Given the description of an element on the screen output the (x, y) to click on. 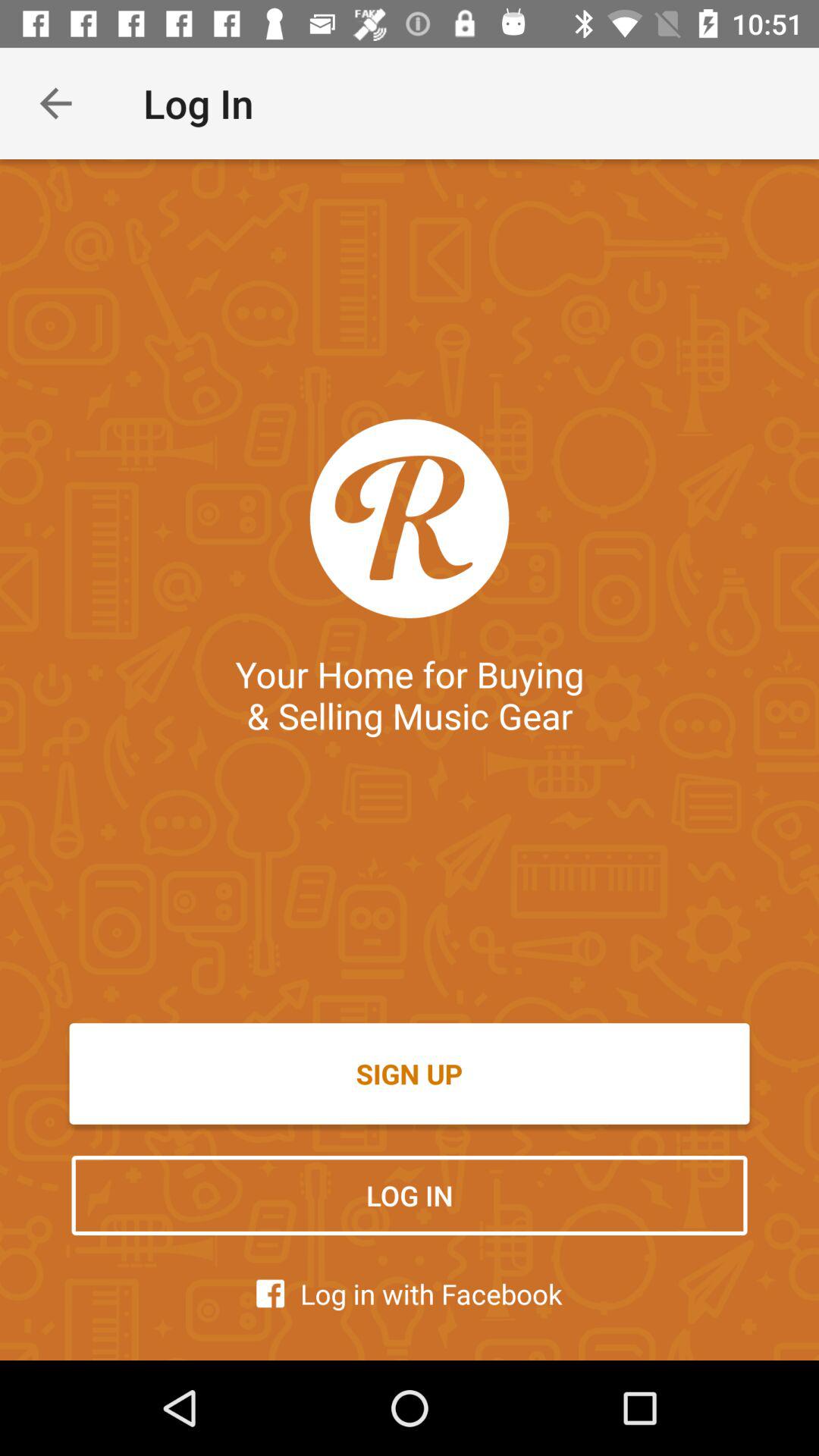
turn off item to the left of the log in item (55, 103)
